Given the description of an element on the screen output the (x, y) to click on. 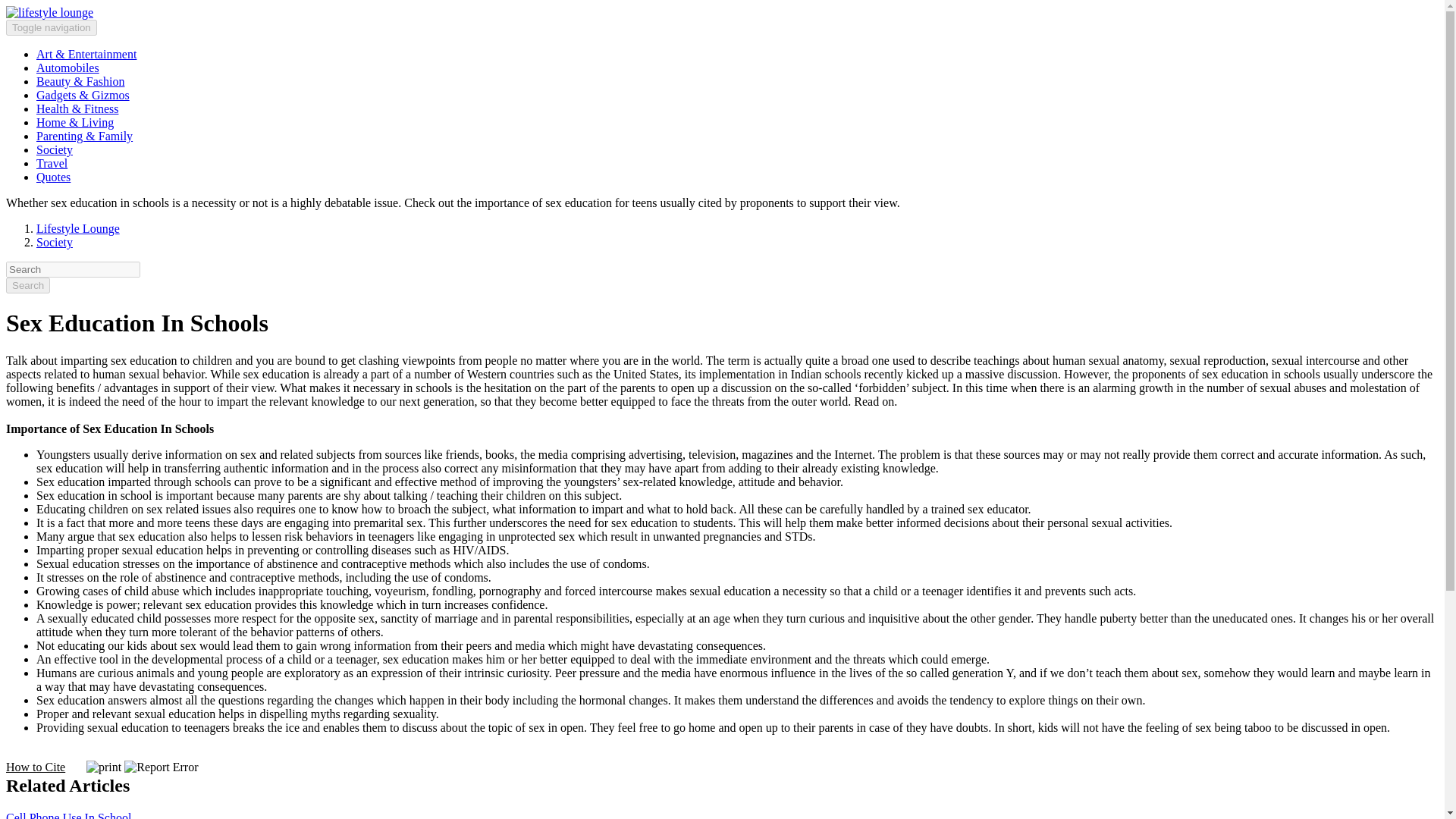
Toggle navigation (51, 27)
Search (27, 285)
Lifestyle Lounge (77, 228)
Travel (51, 163)
Quotes (52, 176)
Society (54, 149)
Cell Phone Use In School (68, 815)
Automobiles (67, 67)
Society (54, 241)
